Given the description of an element on the screen output the (x, y) to click on. 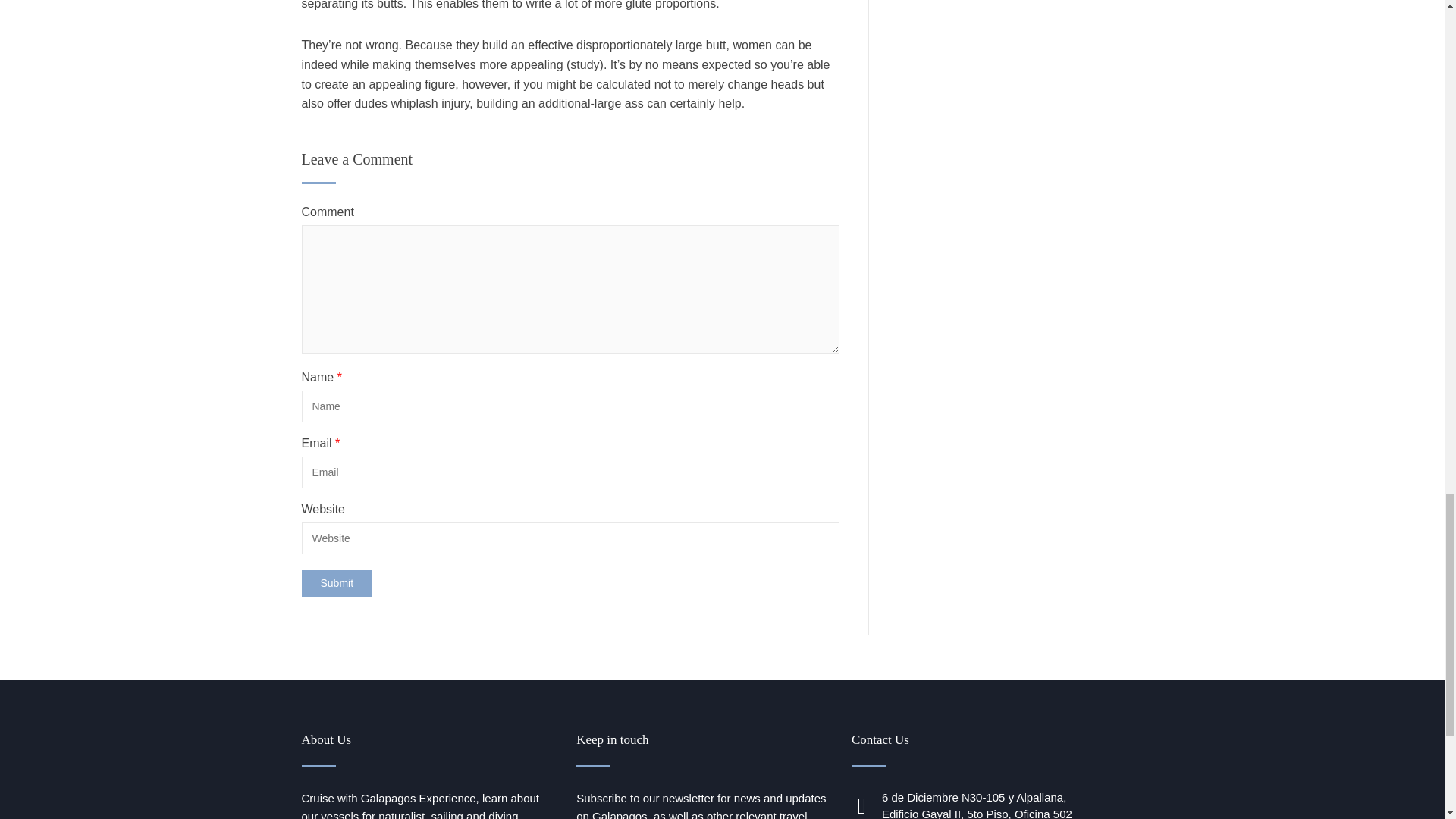
Submit (336, 583)
